Given the description of an element on the screen output the (x, y) to click on. 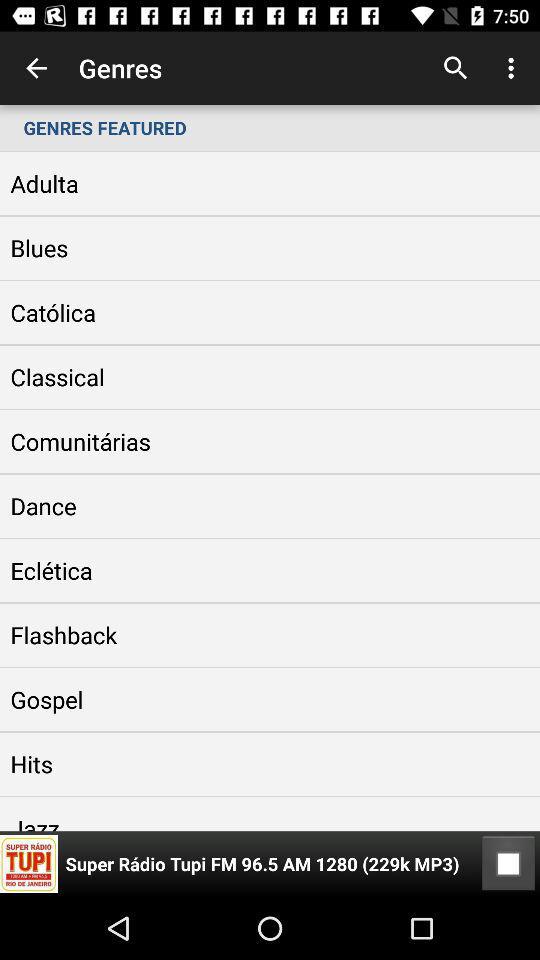
turn off the icon below genres featured icon (508, 863)
